Given the description of an element on the screen output the (x, y) to click on. 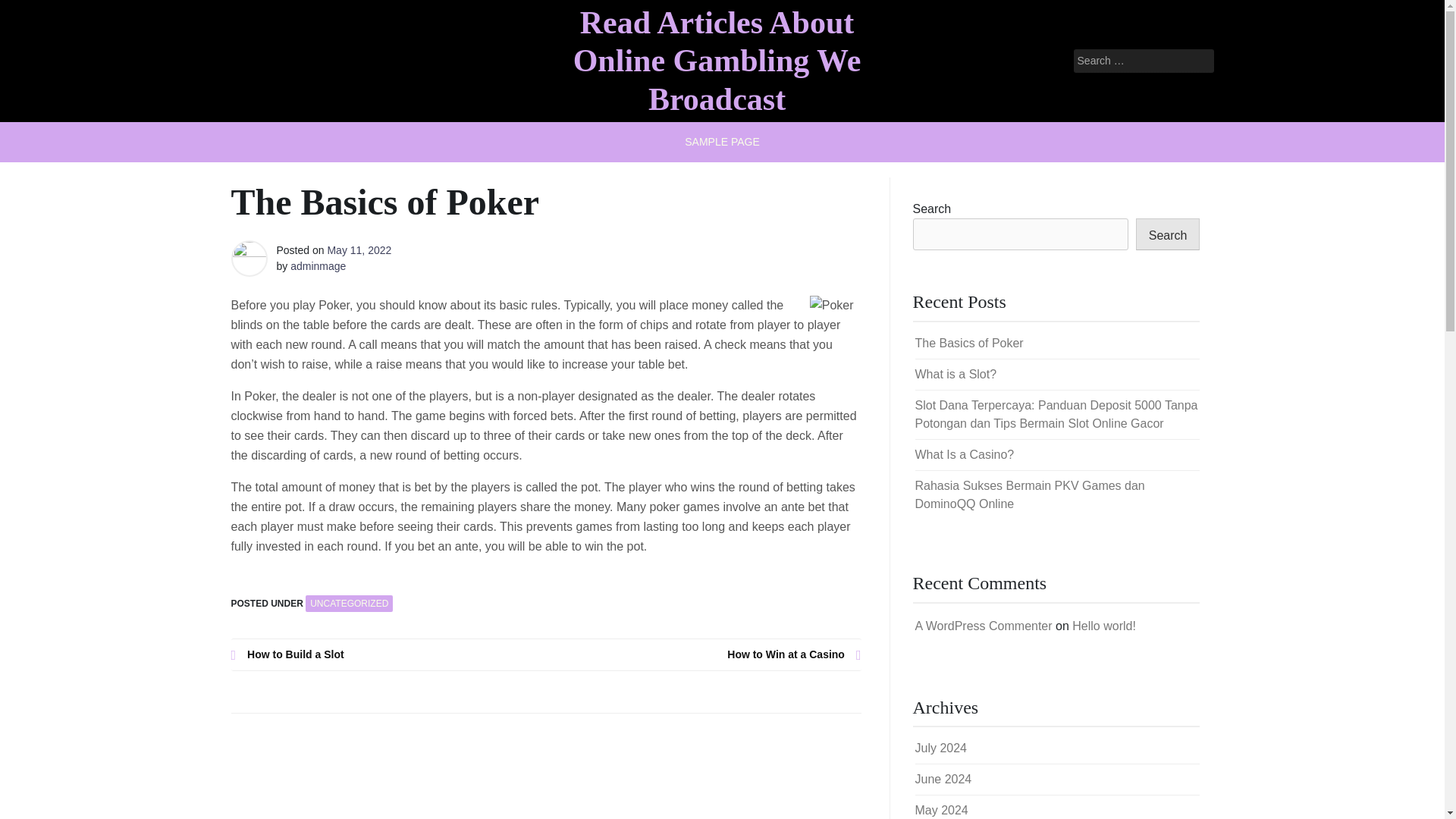
How to Win at a Casino (703, 654)
Rahasia Sukses Bermain PKV Games dan DominoQQ Online (1029, 494)
Hello world! (1103, 625)
May 11, 2022 (358, 250)
May 2024 (941, 809)
adminmage (317, 265)
June 2024 (942, 779)
July 2024 (940, 748)
Read Articles About Online Gambling We Broadcast (717, 60)
Search (32, 12)
What Is a Casino? (963, 454)
A WordPress Commenter (982, 625)
How to Build a Slot (388, 654)
What is a Slot? (954, 373)
